Given the description of an element on the screen output the (x, y) to click on. 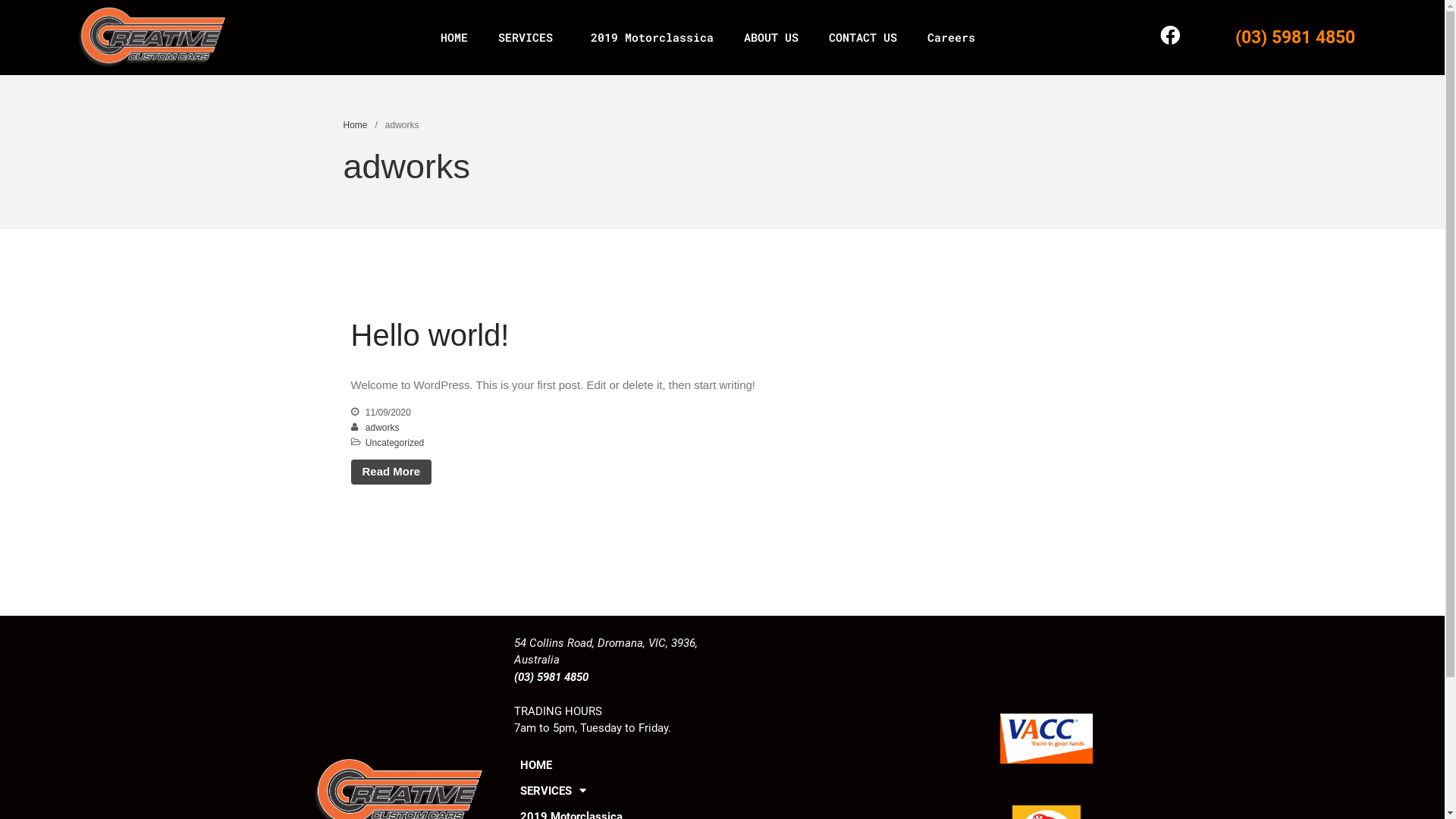
Hello world! Element type: text (429, 334)
ABOUT US Element type: text (770, 36)
CONTACT US Element type: text (862, 36)
Home Element type: text (354, 124)
Uncategorized Element type: text (394, 442)
Careers Element type: text (951, 36)
HOME Element type: text (454, 36)
HOME Element type: text (614, 765)
Search Element type: text (1357, 431)
SERVICES Element type: text (614, 790)
adworks Element type: text (382, 427)
Read More Element type: text (390, 471)
2019 Motorclassica Element type: text (651, 36)
(03) 5981 4850 Element type: text (1295, 37)
SERVICES Element type: text (529, 36)
